Given the description of an element on the screen output the (x, y) to click on. 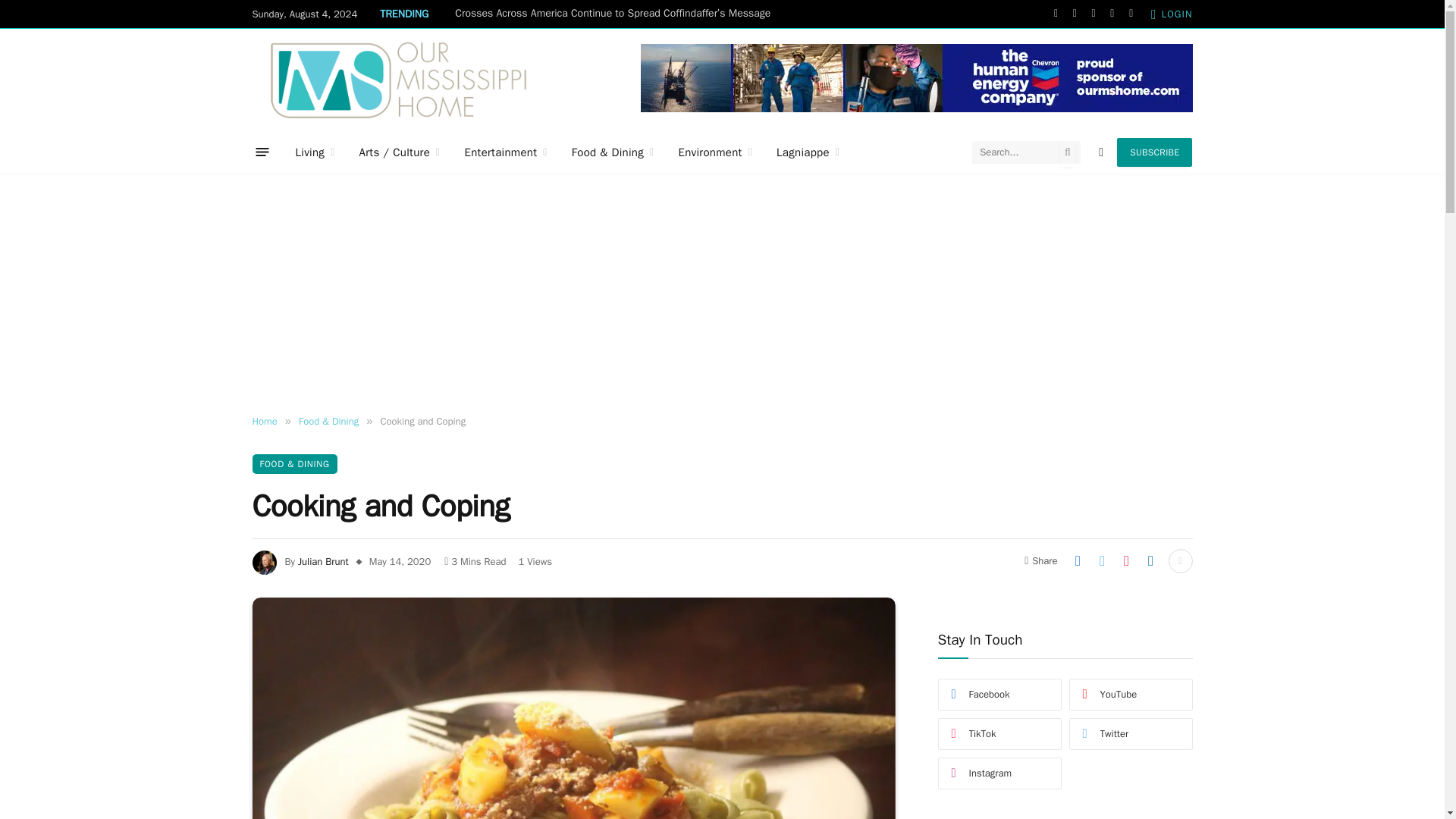
Our Mississippi Home (397, 79)
LOGIN (1171, 13)
Living (315, 151)
